Given the description of an element on the screen output the (x, y) to click on. 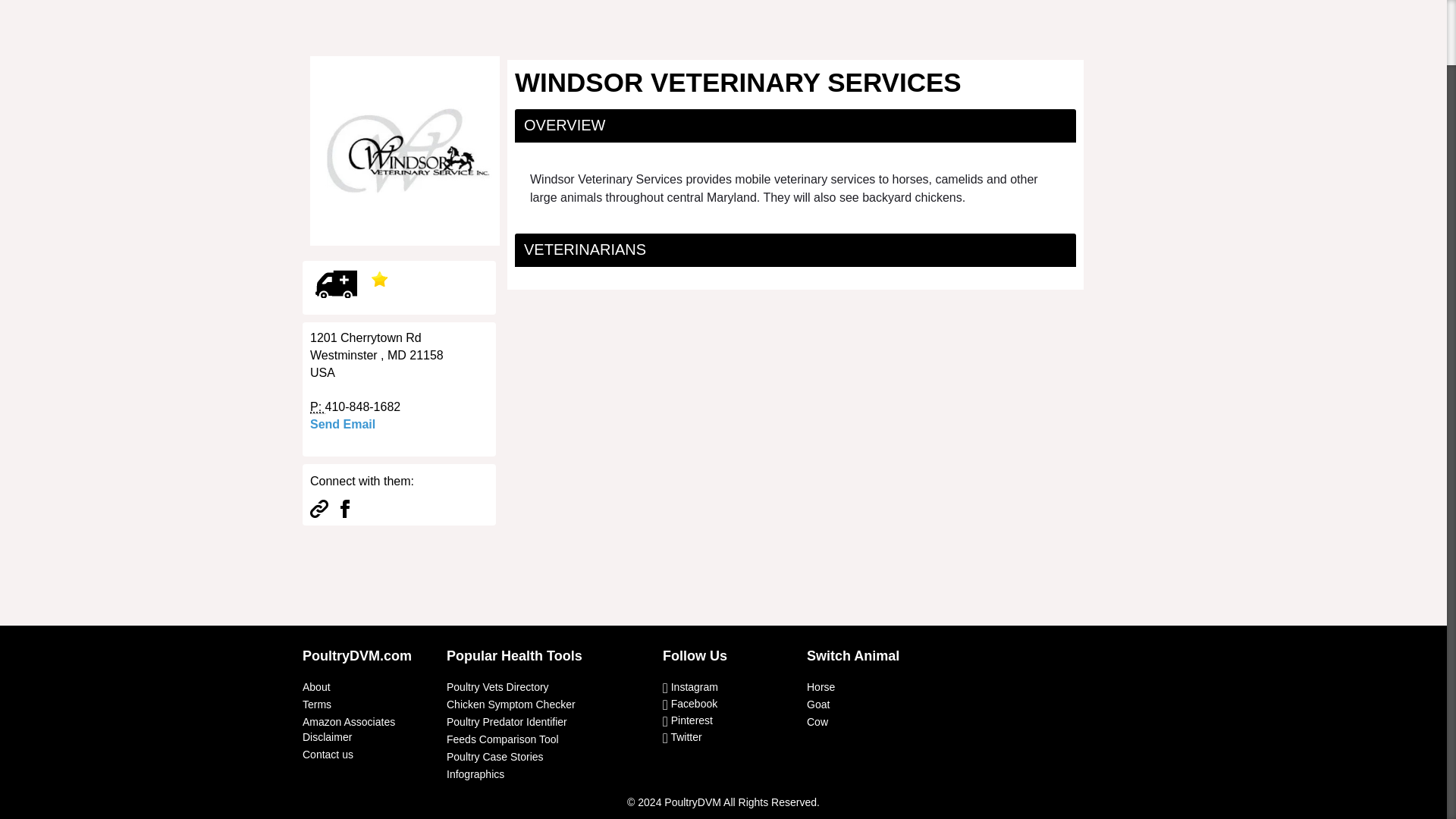
OVERVIEW (564, 125)
Send Email (342, 423)
